Given the description of an element on the screen output the (x, y) to click on. 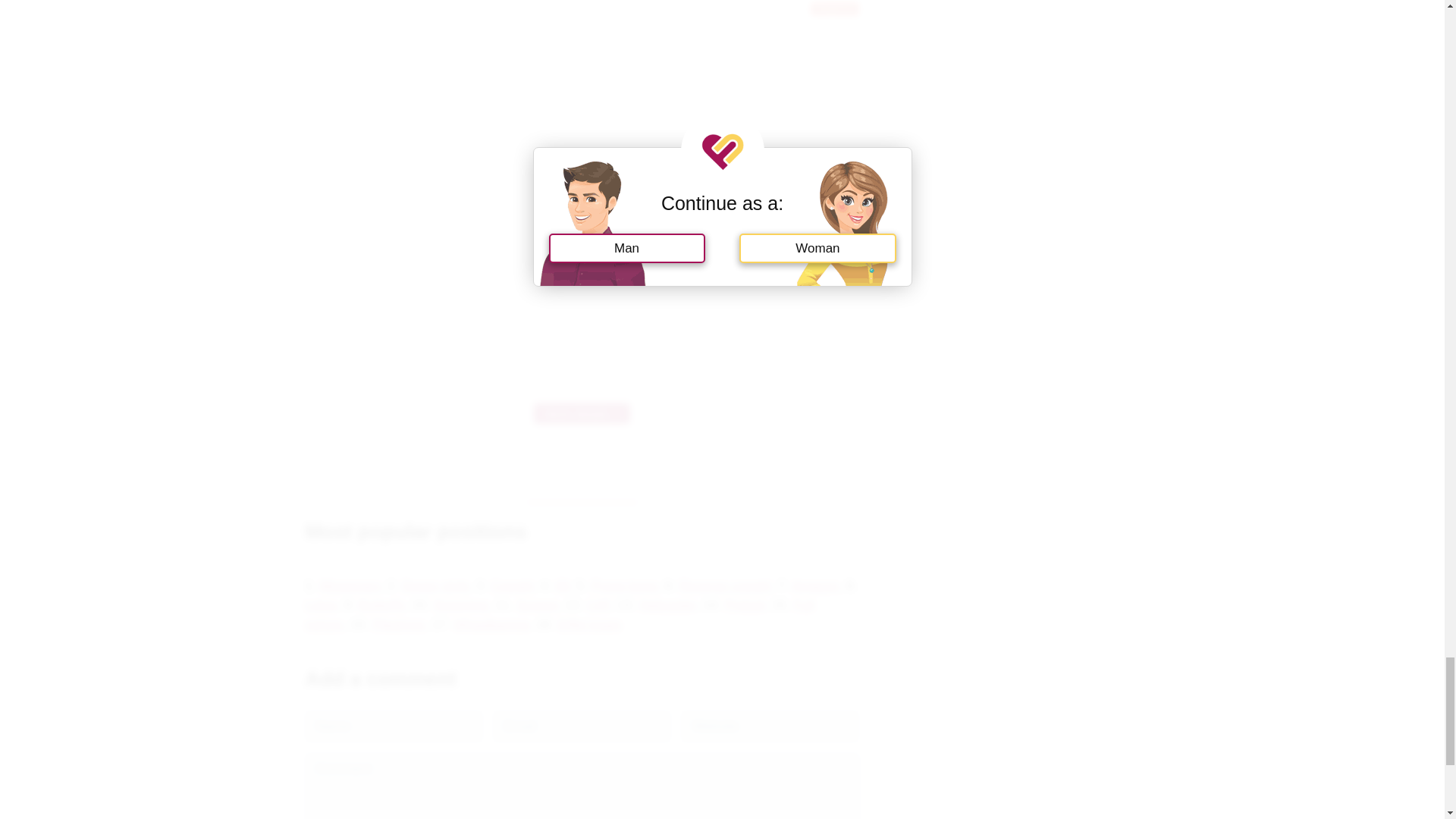
300. Pleasure Bible (581, 413)
